Given the description of an element on the screen output the (x, y) to click on. 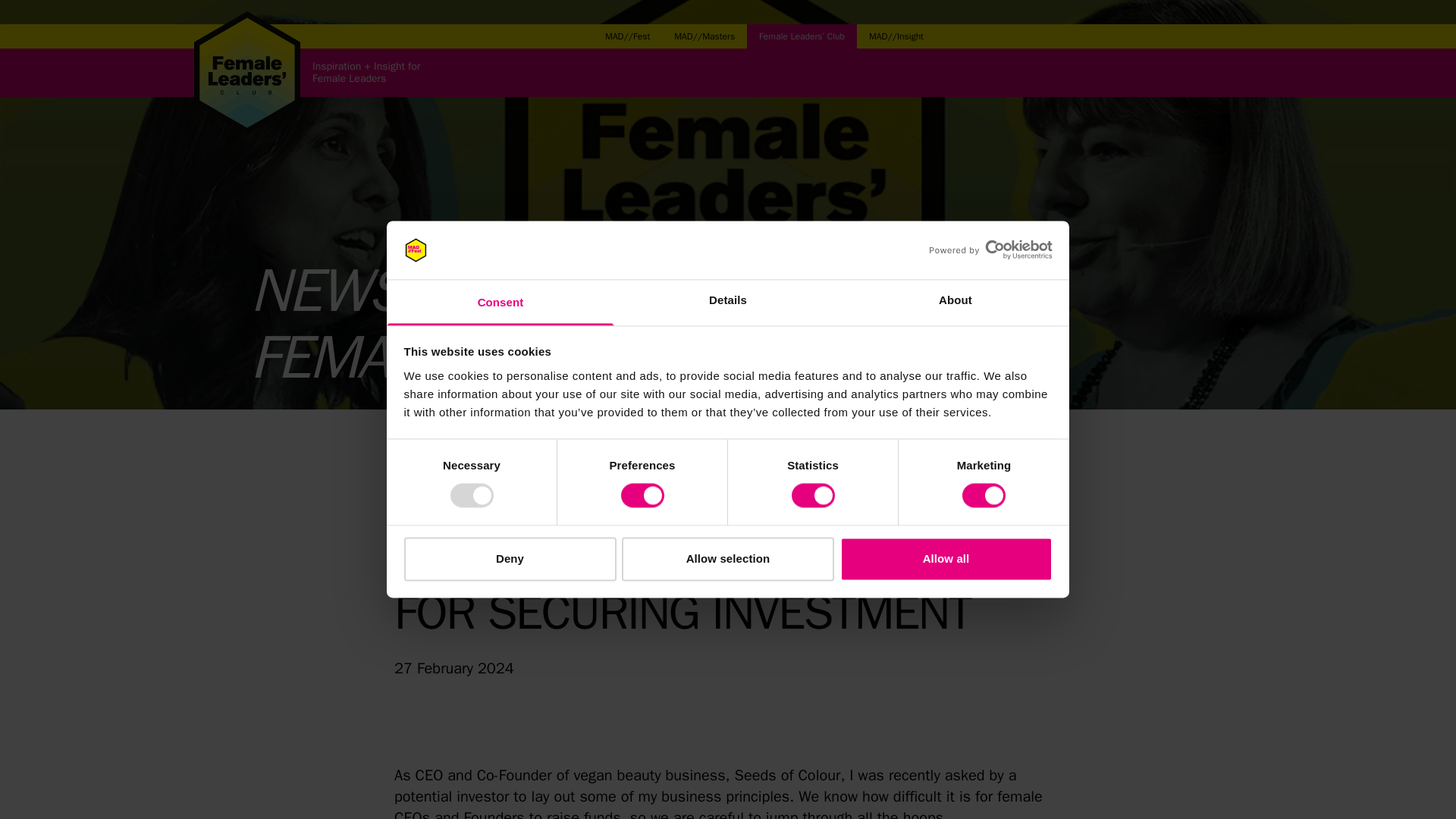
Consent (500, 302)
Details (727, 302)
About (954, 302)
